Given the description of an element on the screen output the (x, y) to click on. 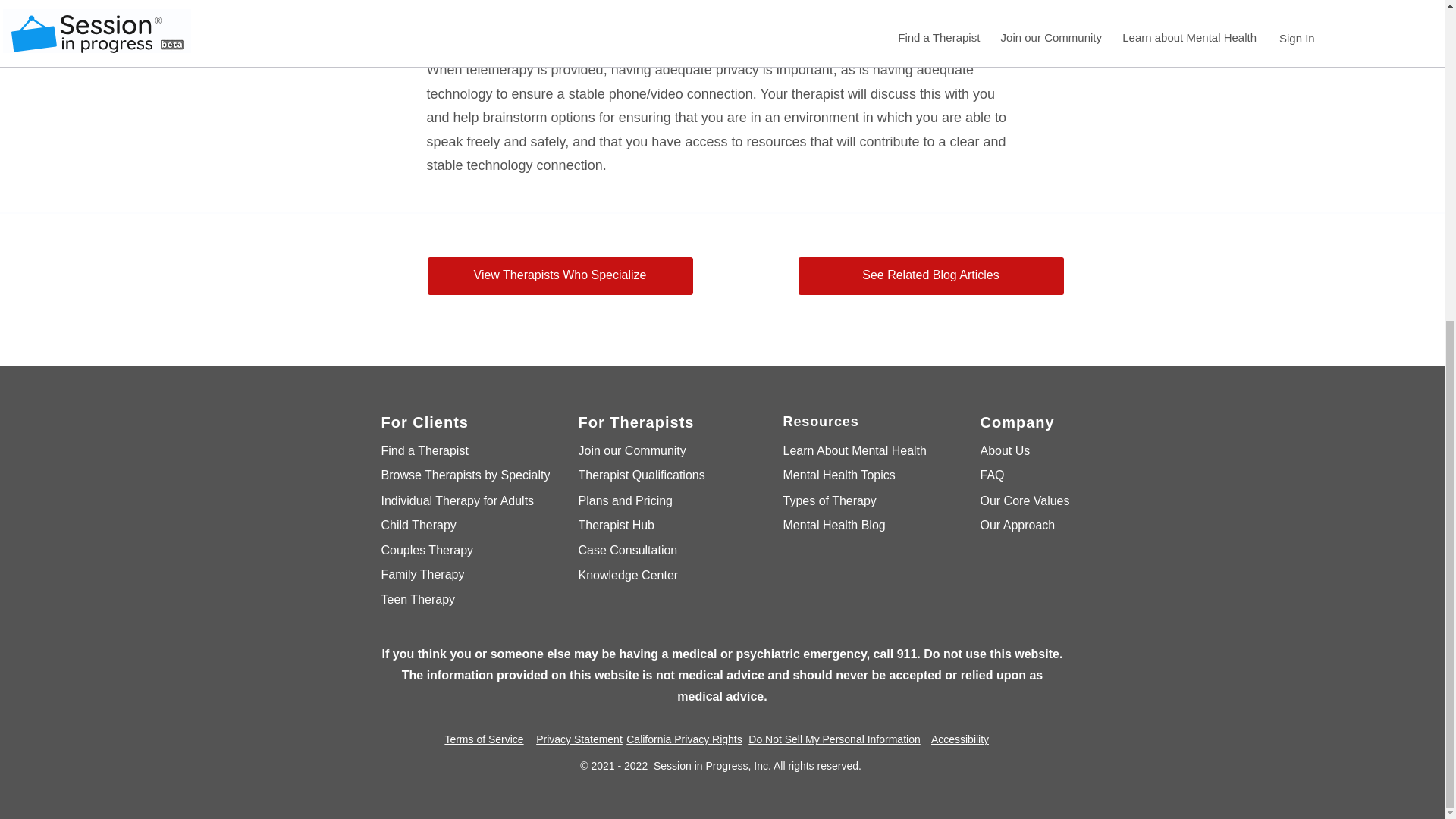
Knowledge Center (658, 575)
FAQ (1034, 475)
Child Therapy (460, 525)
Plans and Pricing (658, 501)
Find a Therapist (460, 451)
Mental Health Blog (863, 525)
See Related Blog Articles (929, 275)
Learn About Mental Health (863, 451)
Couples Therapy (460, 549)
Case Consultation (658, 549)
